Given the description of an element on the screen output the (x, y) to click on. 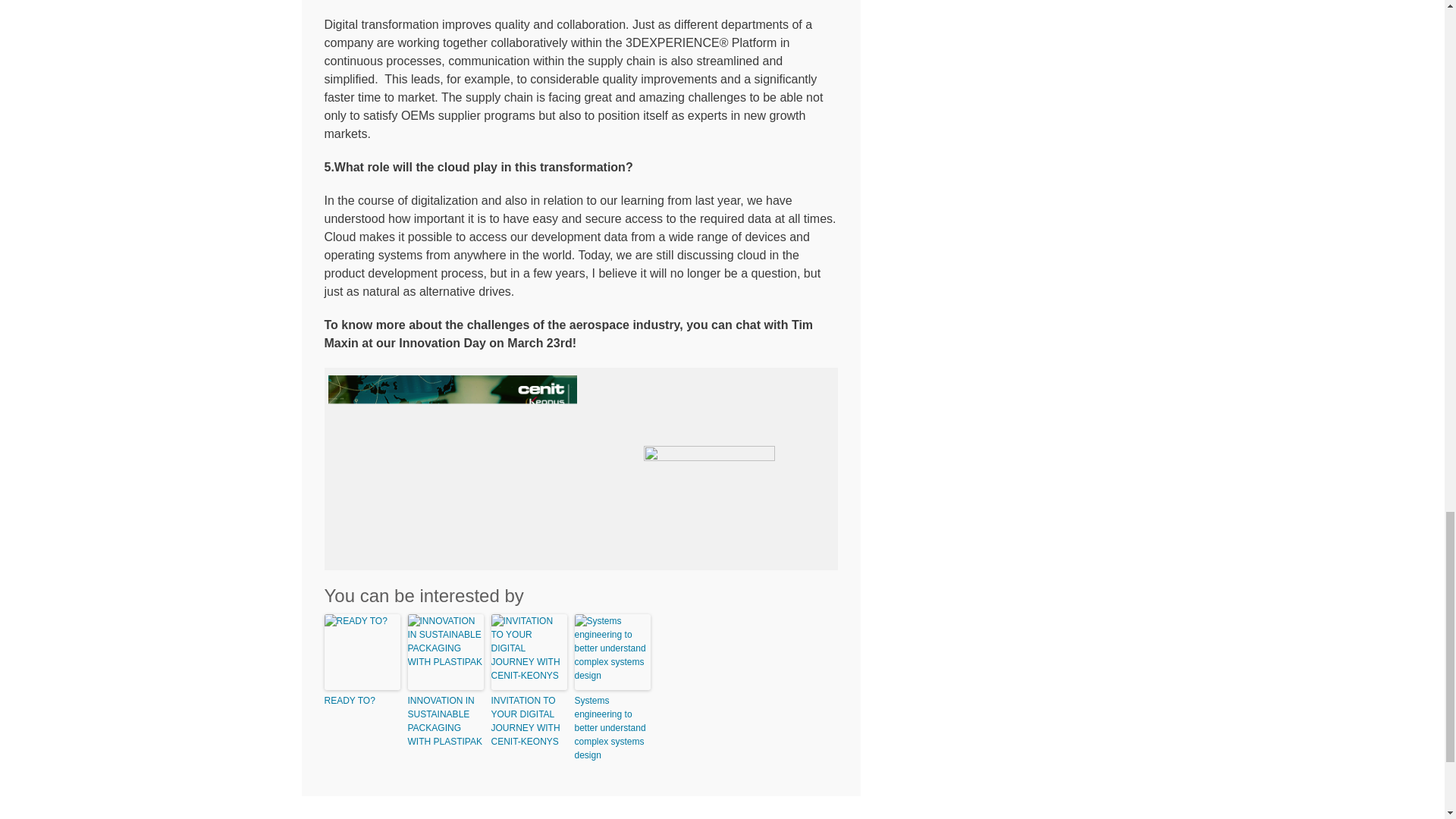
INVITATION TO YOUR DIGITAL JOURNEY WITH CENIT-KEONYS (529, 720)
READY TO? (362, 700)
INNOVATION IN SUSTAINABLE PACKAGING WITH PLASTIPAK (445, 720)
